Given the description of an element on the screen output the (x, y) to click on. 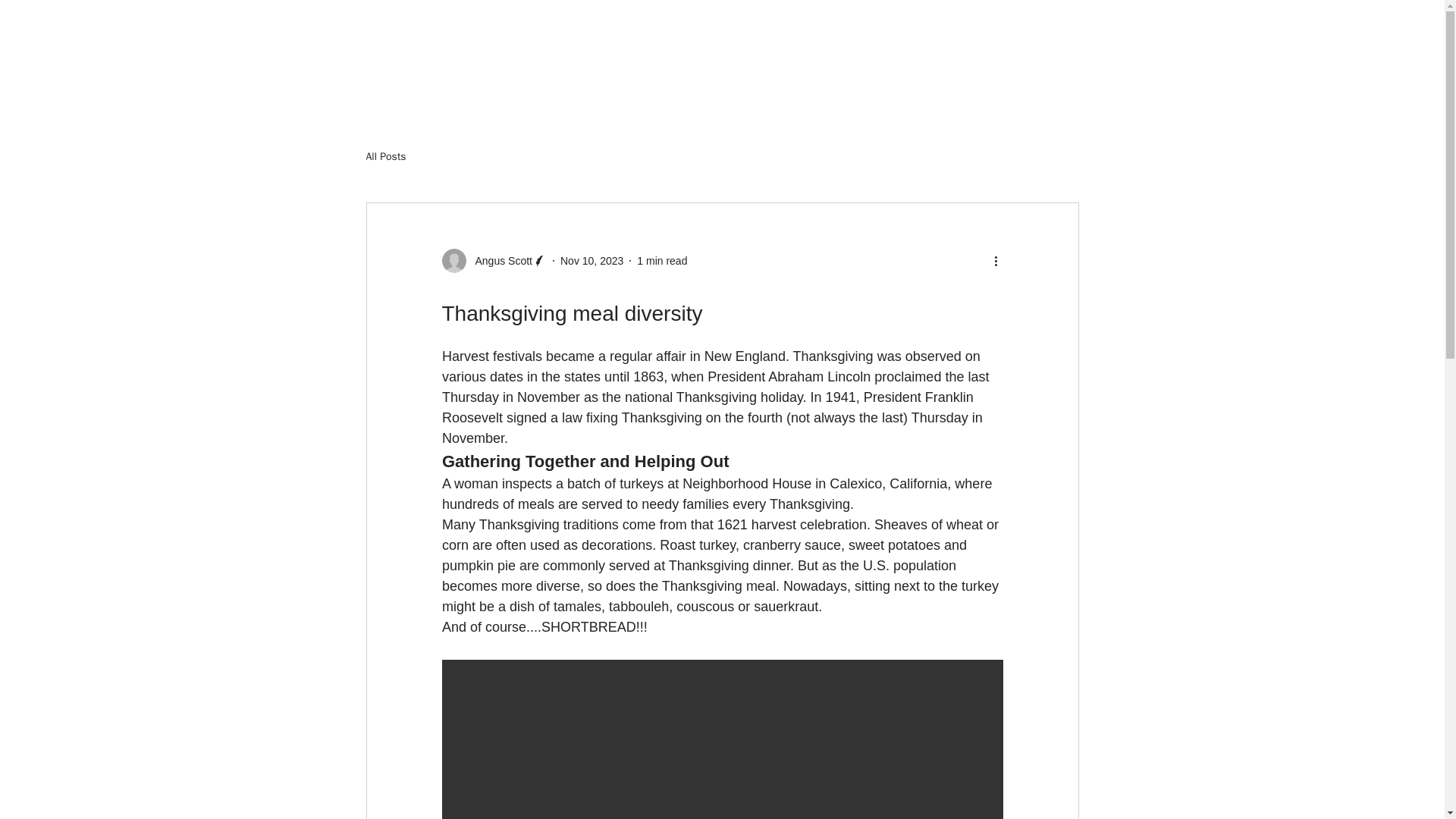
All Posts (385, 156)
Angus Scott (494, 260)
Nov 10, 2023 (591, 260)
1 min read (662, 260)
Angus Scott (498, 261)
